Given the description of an element on the screen output the (x, y) to click on. 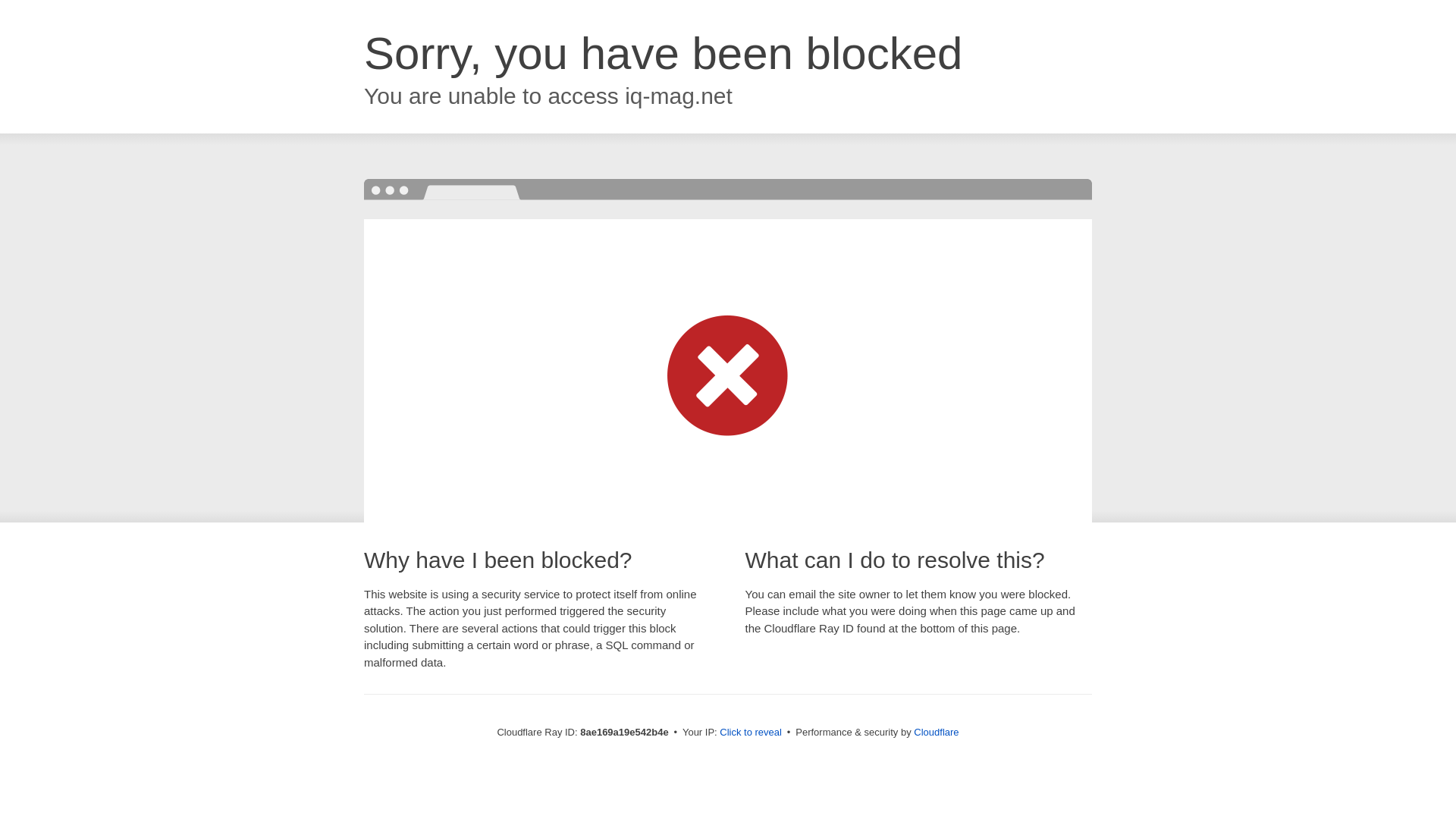
Click to reveal (750, 732)
Cloudflare (936, 731)
